Given the description of an element on the screen output the (x, y) to click on. 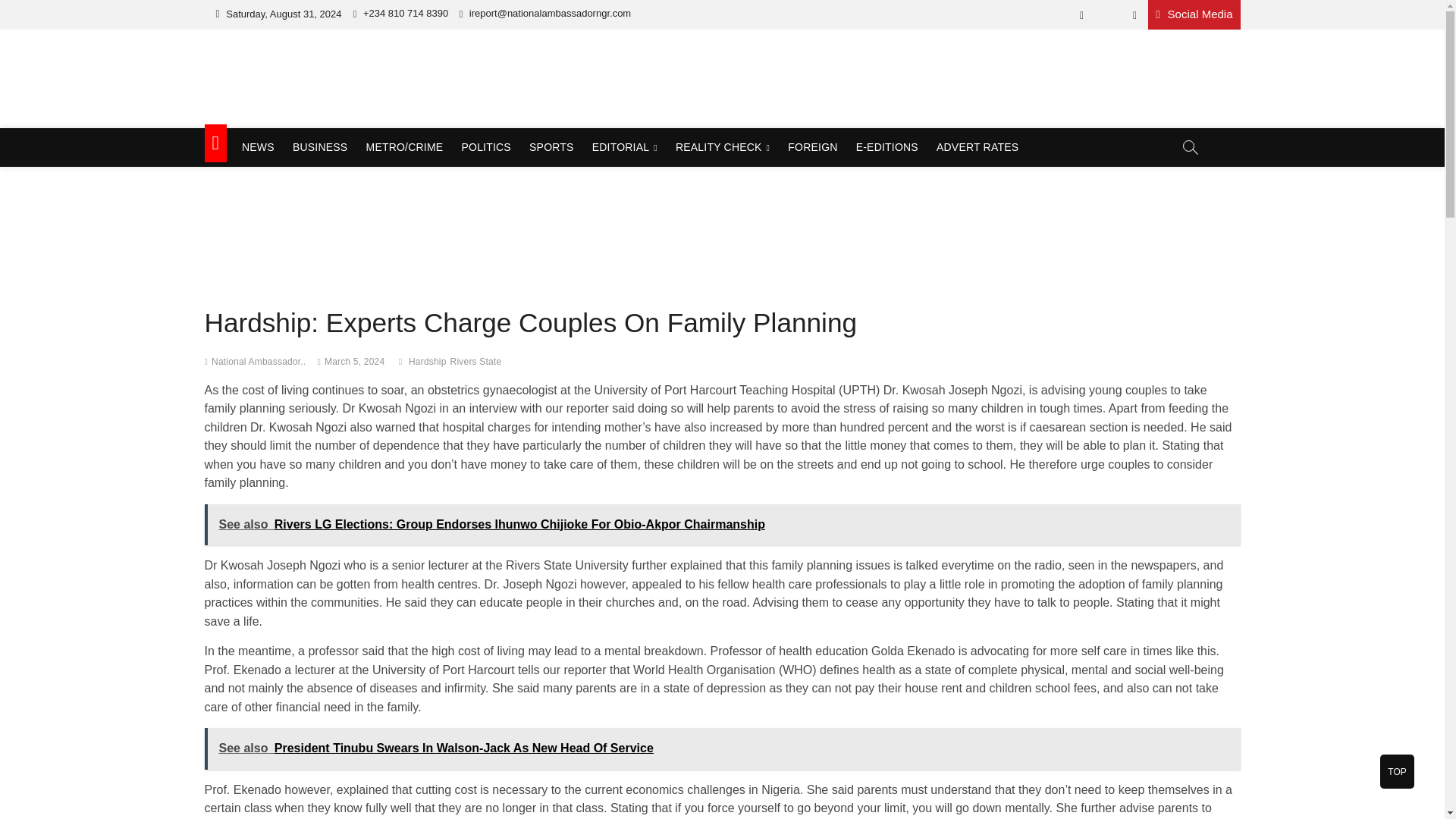
National Ambassador News (379, 129)
NEWS (258, 146)
Call Us (400, 12)
March 5, 2024 (354, 361)
BUSINESS (320, 146)
Hardship: Experts Charge Couples On Family Planning (258, 361)
Social Media (1194, 14)
instagram (1134, 15)
twitter (1107, 15)
Mail Us (544, 12)
